Given the description of an element on the screen output the (x, y) to click on. 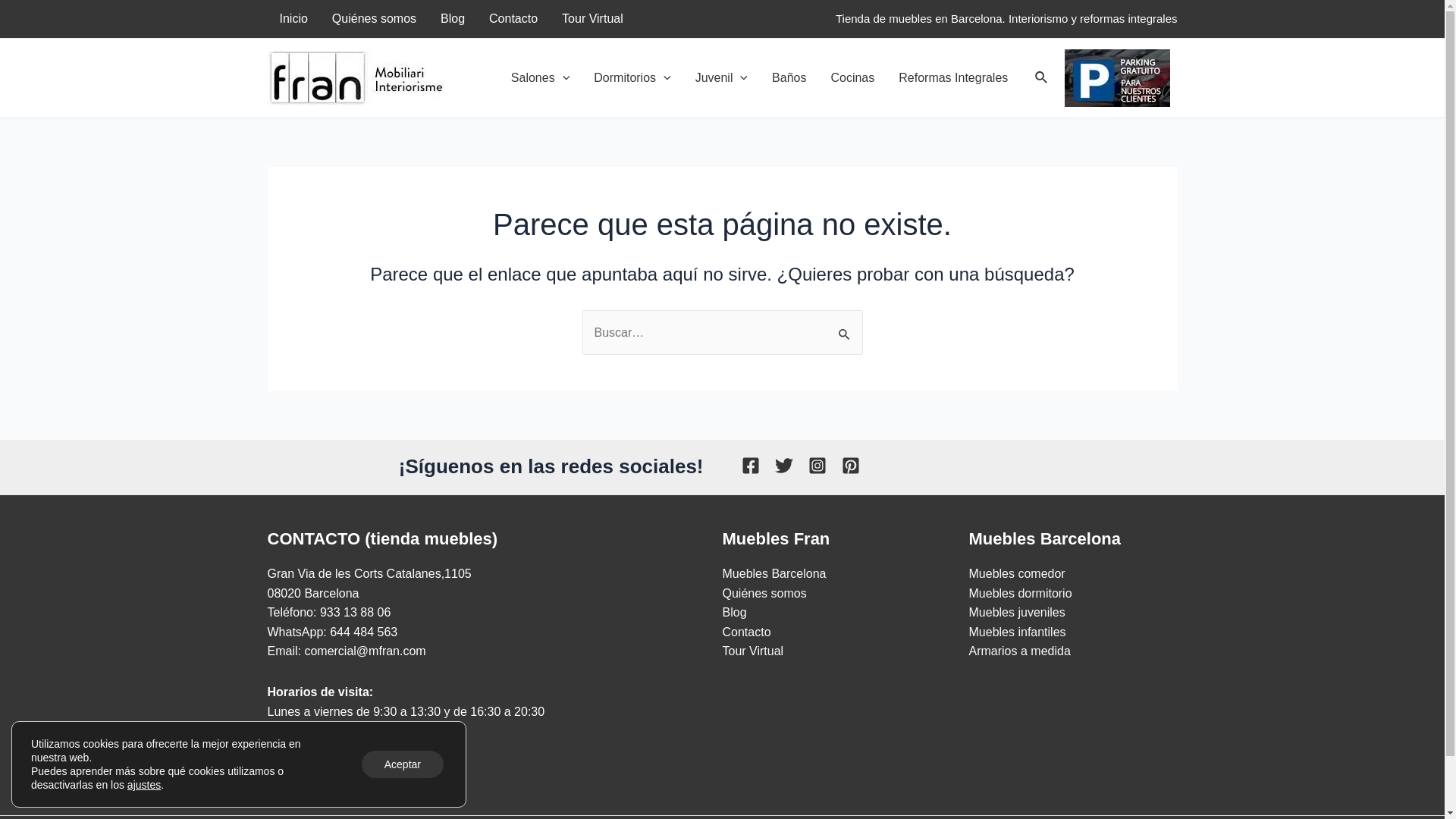
Contacto Element type: text (512, 18)
Muebles comedor Element type: text (1017, 573)
Tour Virtual Element type: text (592, 18)
Muebles Barcelona Element type: text (773, 573)
Inicio Element type: text (292, 18)
Blog Element type: text (733, 611)
Blog Element type: text (452, 18)
Reformas Integrales Element type: text (952, 77)
Salones Element type: text (539, 77)
Buscar Element type: text (845, 326)
Armarios a medida Element type: text (1019, 650)
Buscar Element type: text (1041, 77)
Juvenil Element type: text (721, 77)
Contacto Element type: text (745, 631)
ajustes Element type: text (143, 784)
Aceptar Element type: text (402, 764)
Cocinas Element type: text (852, 77)
comercial@mfran.com Element type: text (364, 650)
Muebles juveniles Element type: text (1017, 611)
Muebles infantiles Element type: text (1017, 631)
Dormitorios Element type: text (631, 77)
Muebles dormitorio Element type: text (1020, 592)
Tour Virtual Element type: text (752, 650)
